Given the description of an element on the screen output the (x, y) to click on. 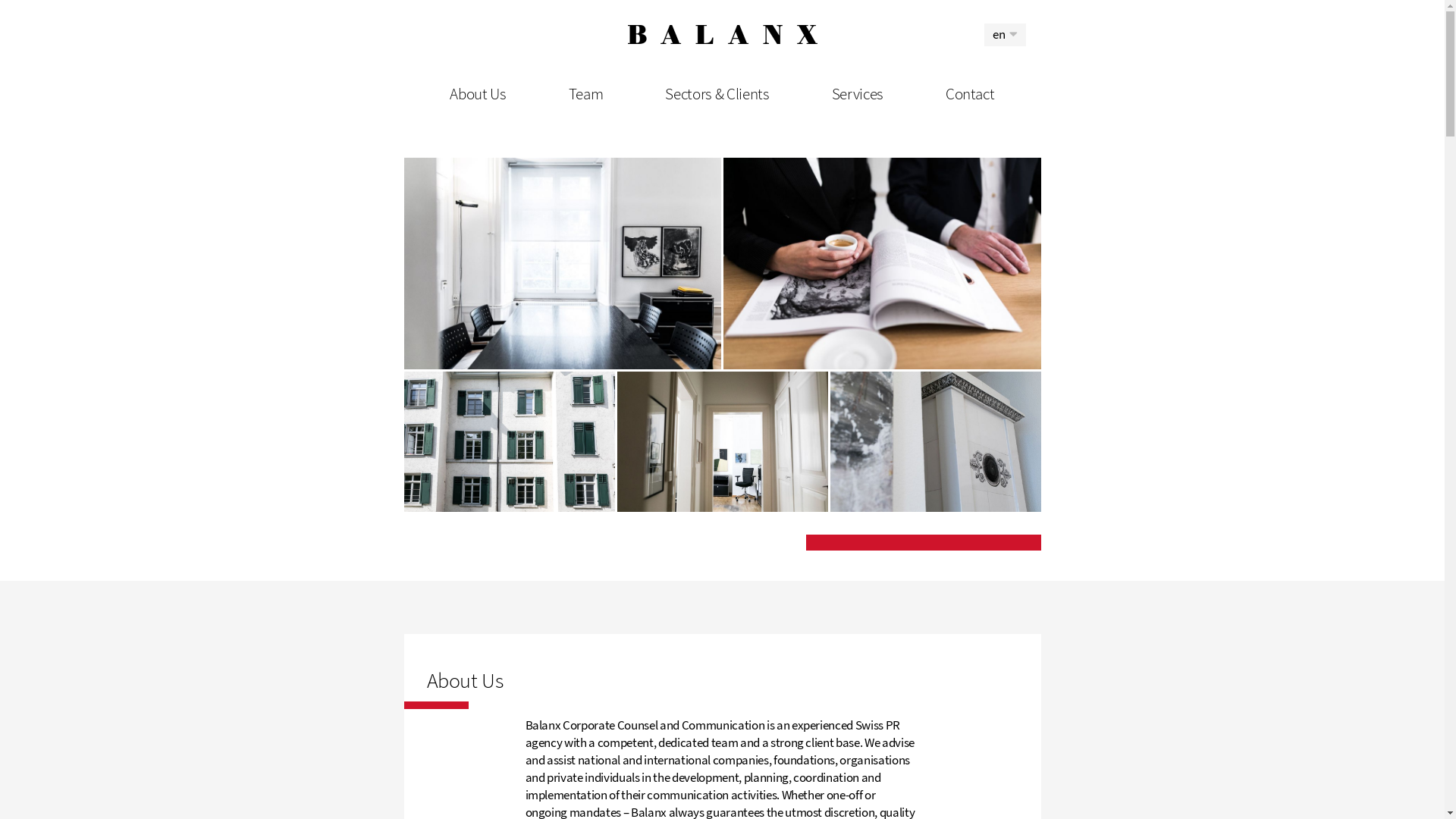
Team Element type: text (585, 93)
About Us Element type: text (477, 93)
Sectors & Clients Element type: text (716, 93)
en Element type: text (1005, 34)
Services Element type: text (857, 93)
Contact Element type: text (969, 93)
